Given the description of an element on the screen output the (x, y) to click on. 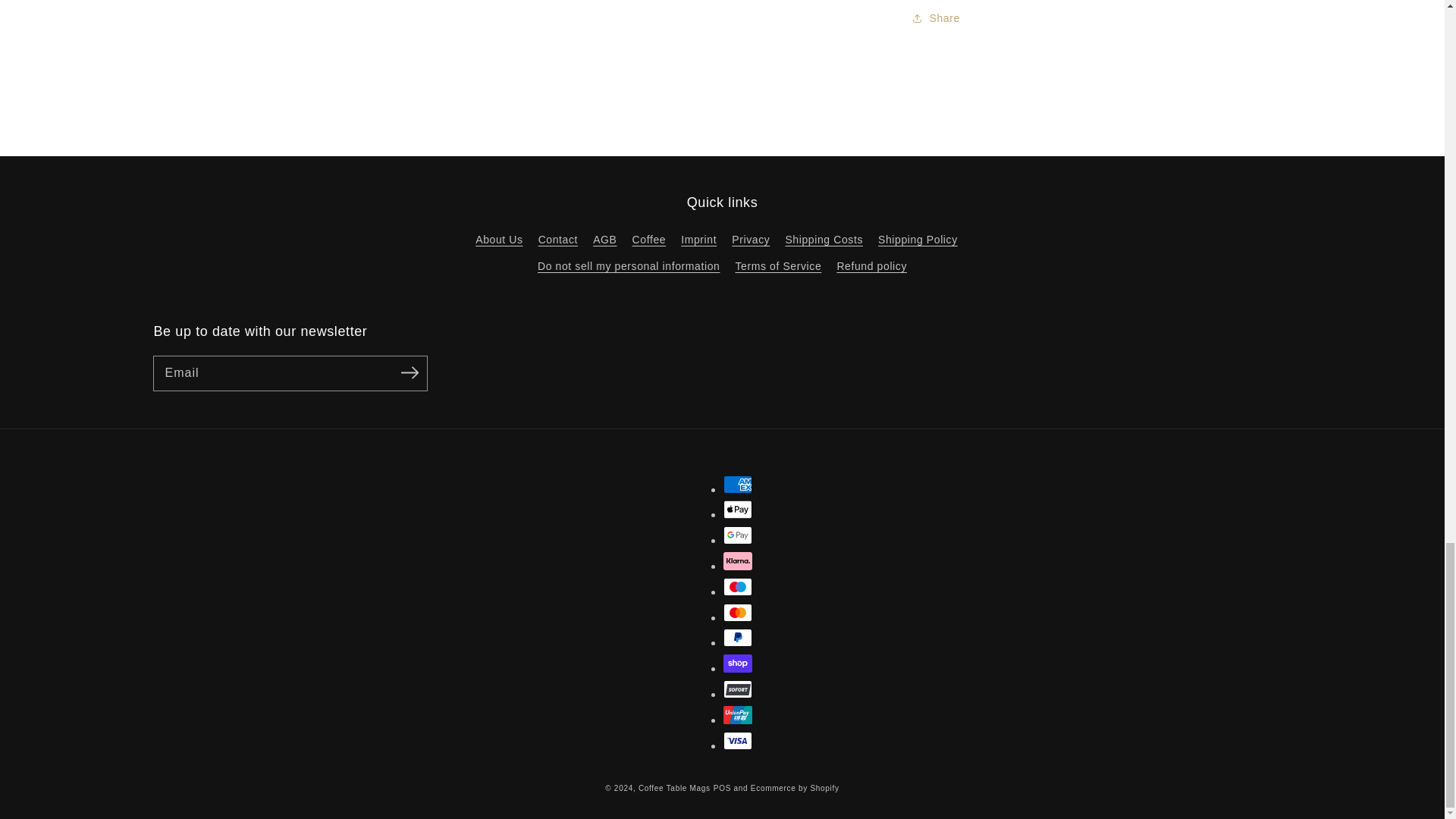
Maestro (737, 587)
PayPal (737, 637)
American Express (737, 484)
SOFORT (737, 689)
Google Pay (737, 535)
Mastercard (737, 612)
Apple Pay (737, 509)
Klarna (737, 561)
Shop Pay (737, 663)
